Given the description of an element on the screen output the (x, y) to click on. 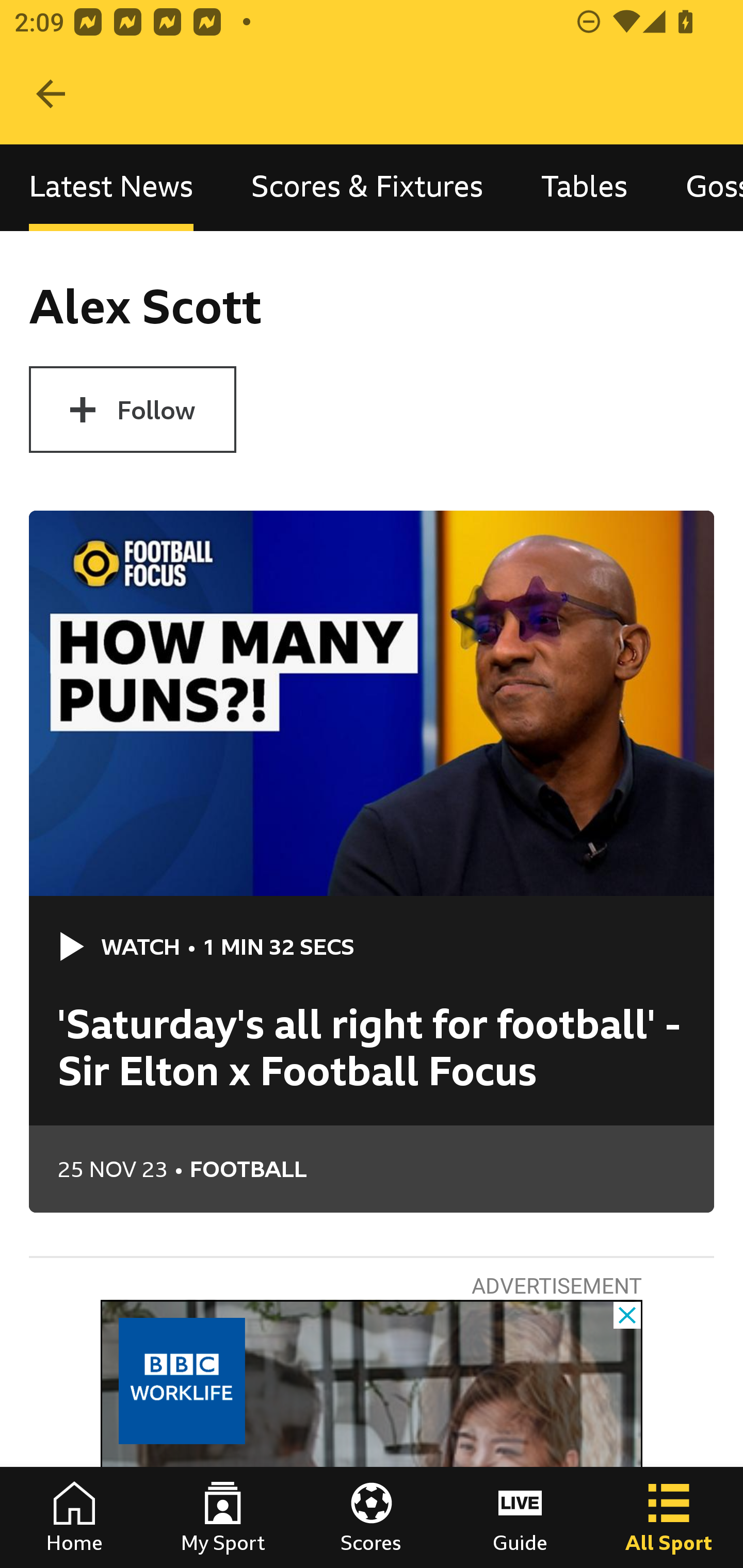
Navigate up (50, 93)
Latest News, selected Latest News (111, 187)
Scores & Fixtures (367, 187)
Tables (584, 187)
Gossip (699, 187)
Follow Alex Scott Follow (132, 409)
Home (74, 1517)
My Sport (222, 1517)
Scores (371, 1517)
Guide (519, 1517)
